Given the description of an element on the screen output the (x, y) to click on. 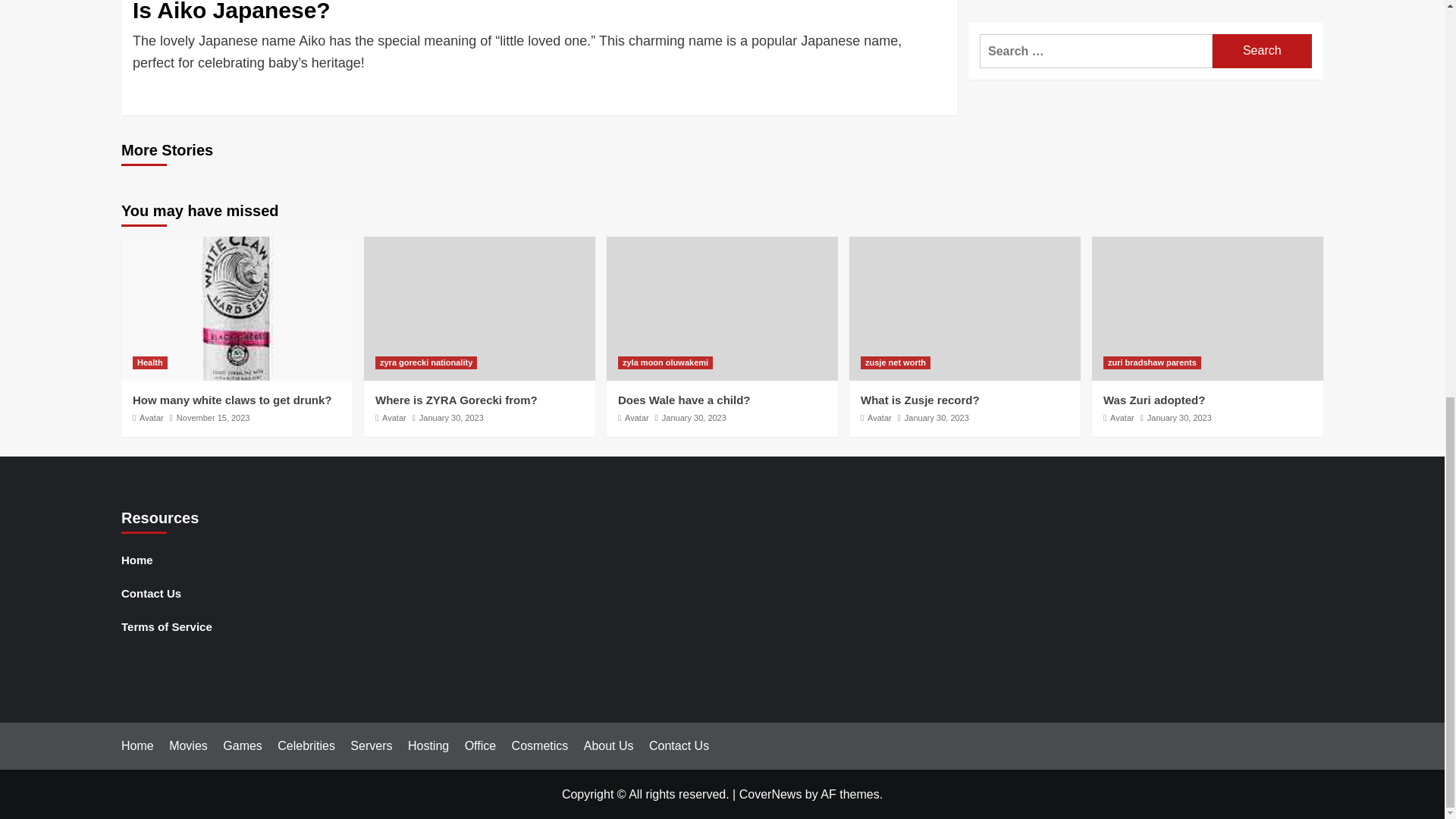
Does Wale have a child? (684, 399)
Avatar (393, 417)
Where is ZYRA Gorecki from? (456, 399)
Avatar (151, 417)
January 30, 2023 (694, 417)
Avatar (636, 417)
November 15, 2023 (213, 417)
zyra gorecki nationality (426, 362)
Health (149, 362)
How many white claws to get drunk? (231, 399)
